Given the description of an element on the screen output the (x, y) to click on. 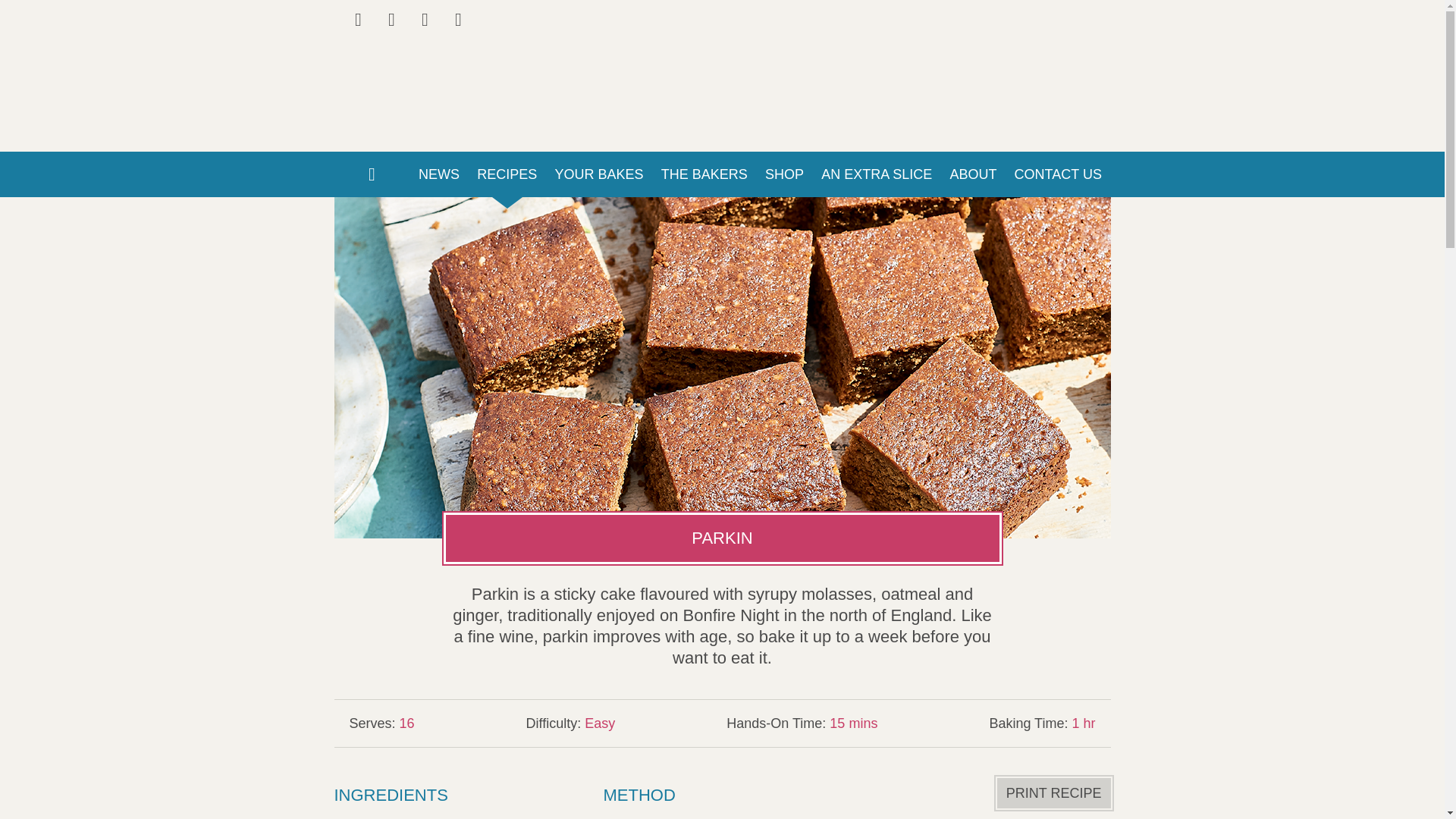
THE BAKERS (703, 174)
PRINT RECIPE (1053, 793)
YOUR BAKES (599, 174)
CONTACT US (1058, 174)
The Great British Bake Off (721, 50)
RECIPES (507, 174)
HOME (371, 174)
ABOUT (973, 174)
AN EXTRA SLICE (876, 174)
STREAM ON CHANNEL 4 (1021, 29)
SHOP (783, 174)
NEWS (438, 174)
